Given the description of an element on the screen output the (x, y) to click on. 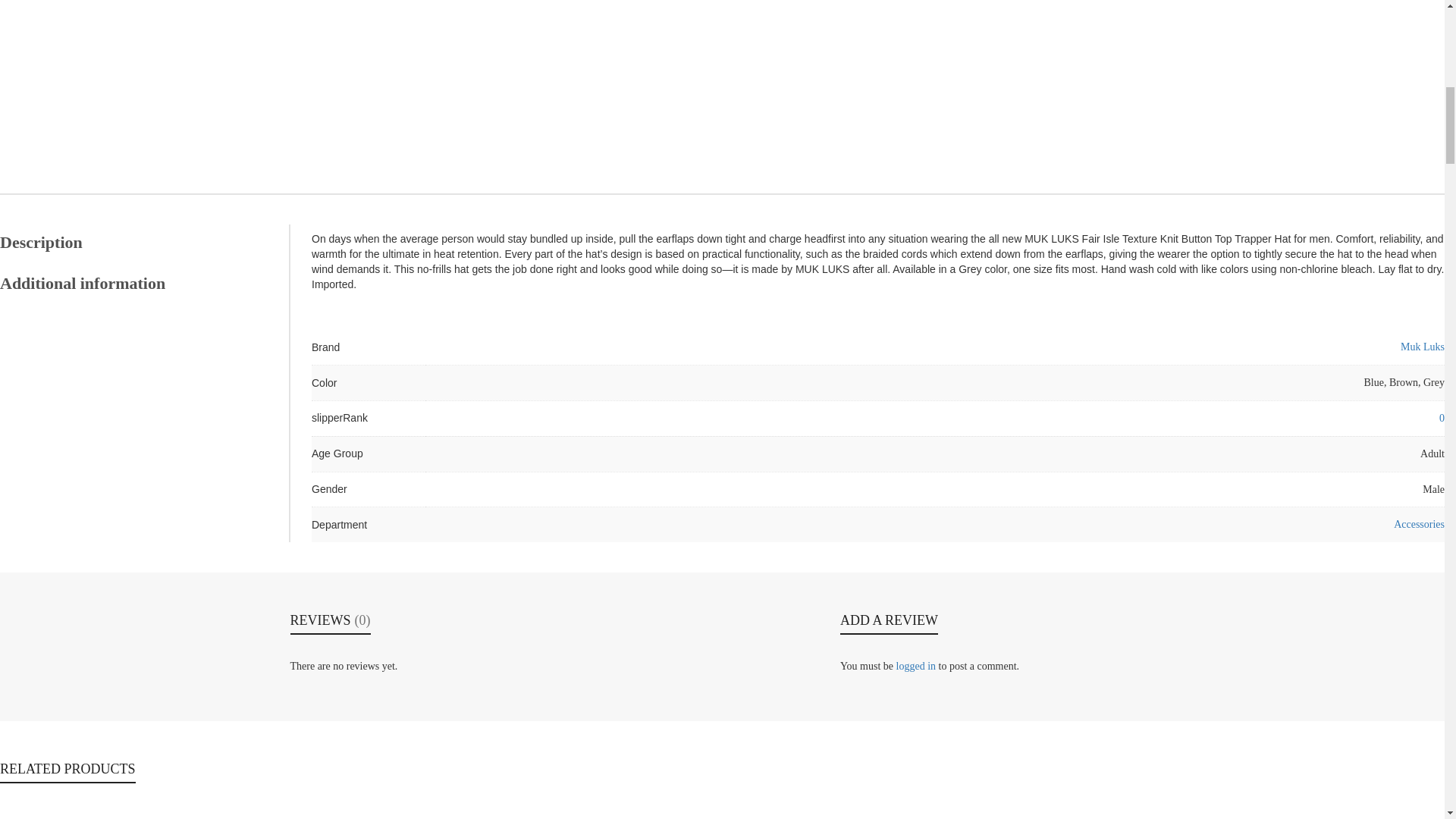
Description (137, 242)
